Given the description of an element on the screen output the (x, y) to click on. 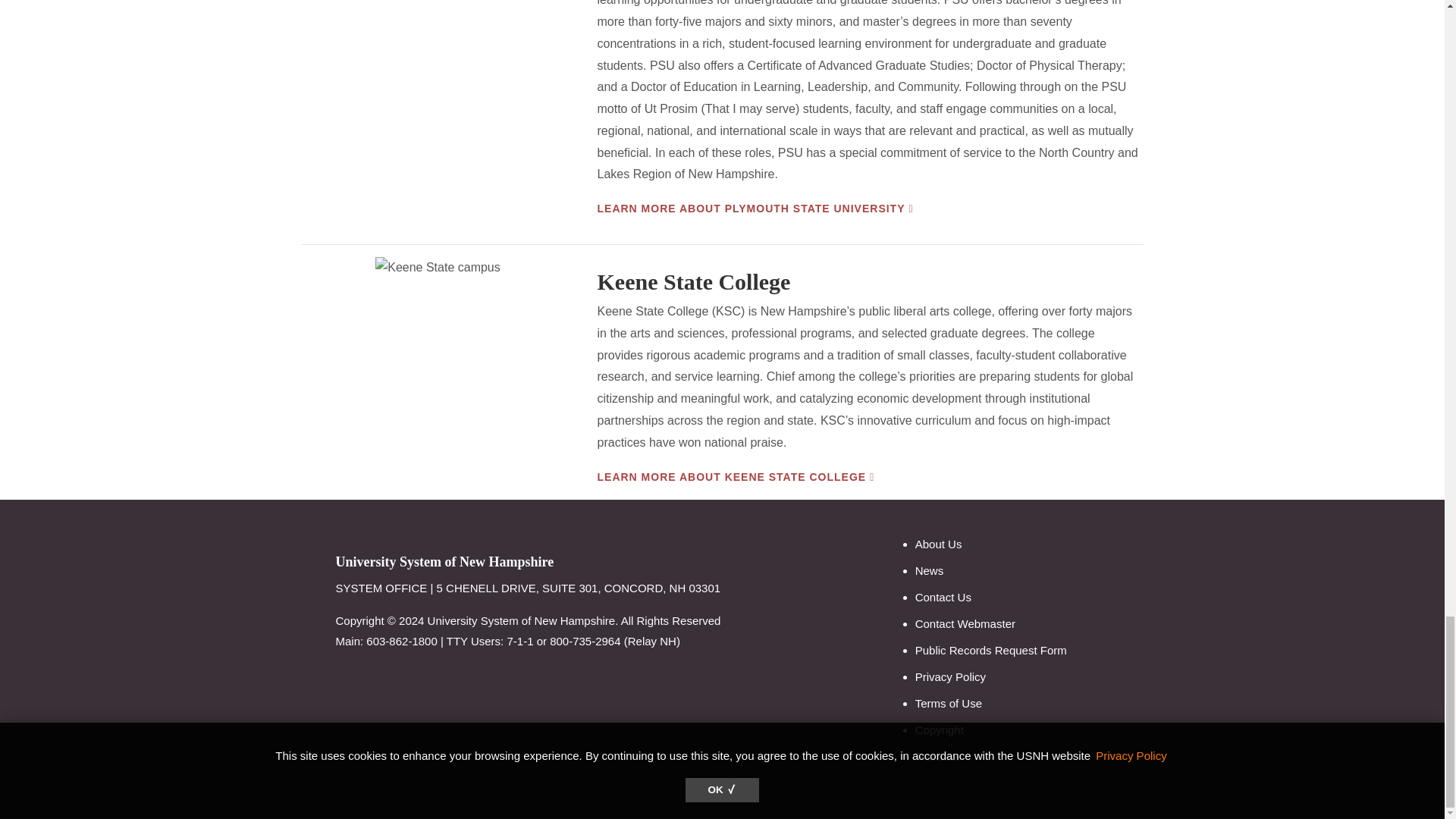
Terms of Use (948, 703)
News (929, 570)
Copyright (939, 729)
USNH Webmaster Contact Form (964, 623)
E. Privacy Policy (950, 676)
About USNH (938, 543)
Contact Us (943, 596)
